Given the description of an element on the screen output the (x, y) to click on. 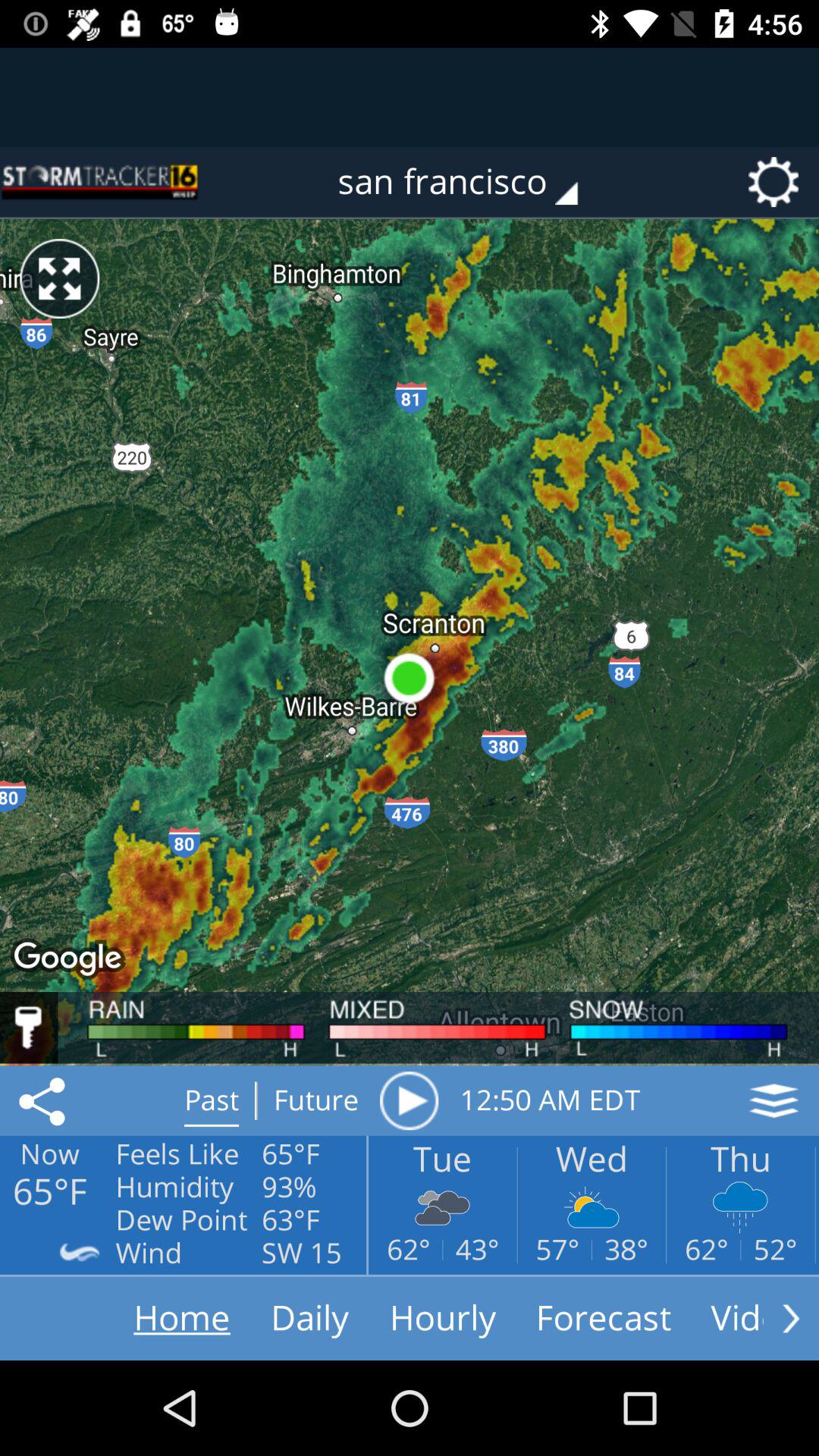
play (409, 1100)
